Given the description of an element on the screen output the (x, y) to click on. 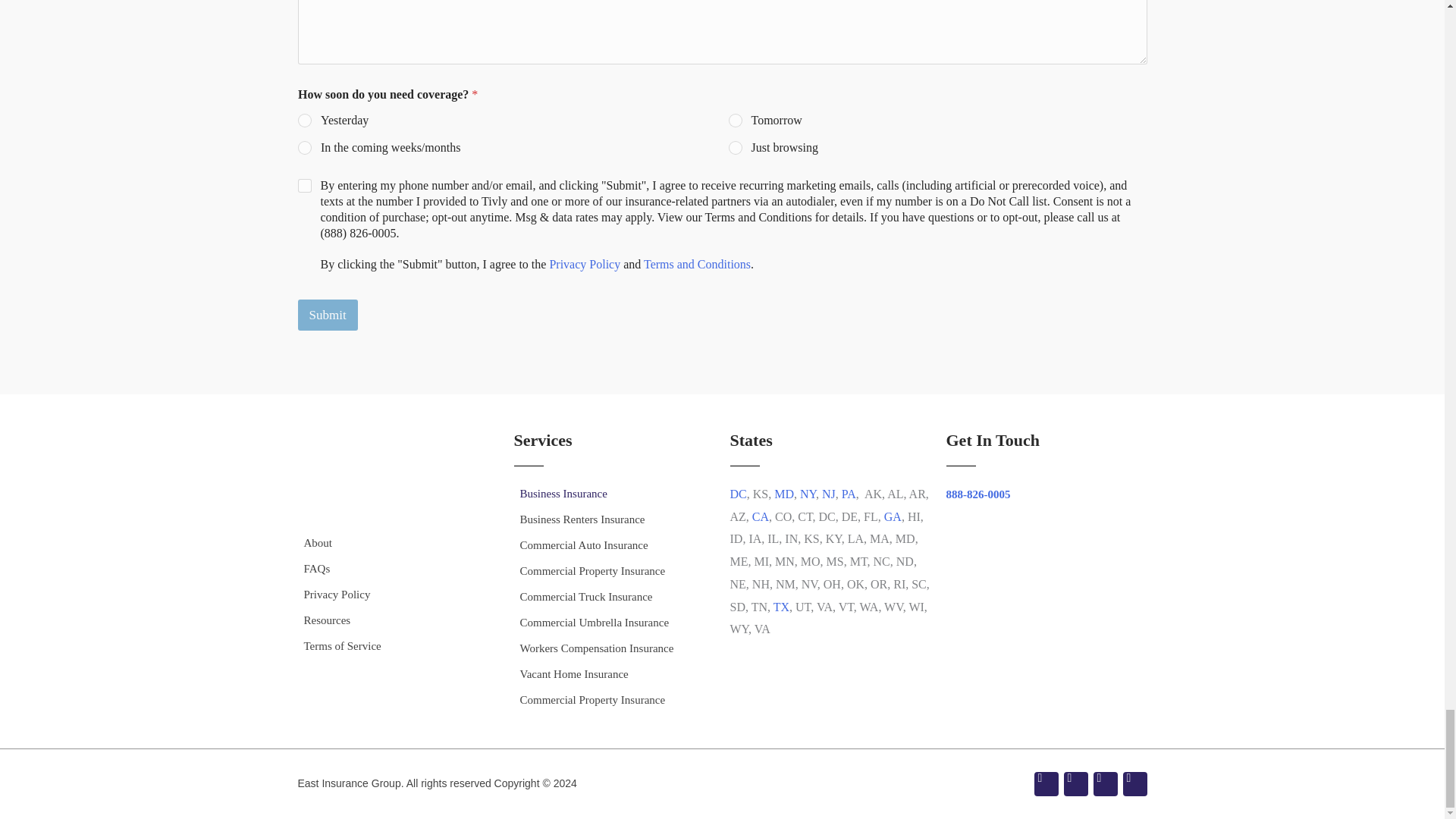
Just browsing (735, 148)
Tomorrow (735, 121)
Yesterday (304, 121)
